Given the description of an element on the screen output the (x, y) to click on. 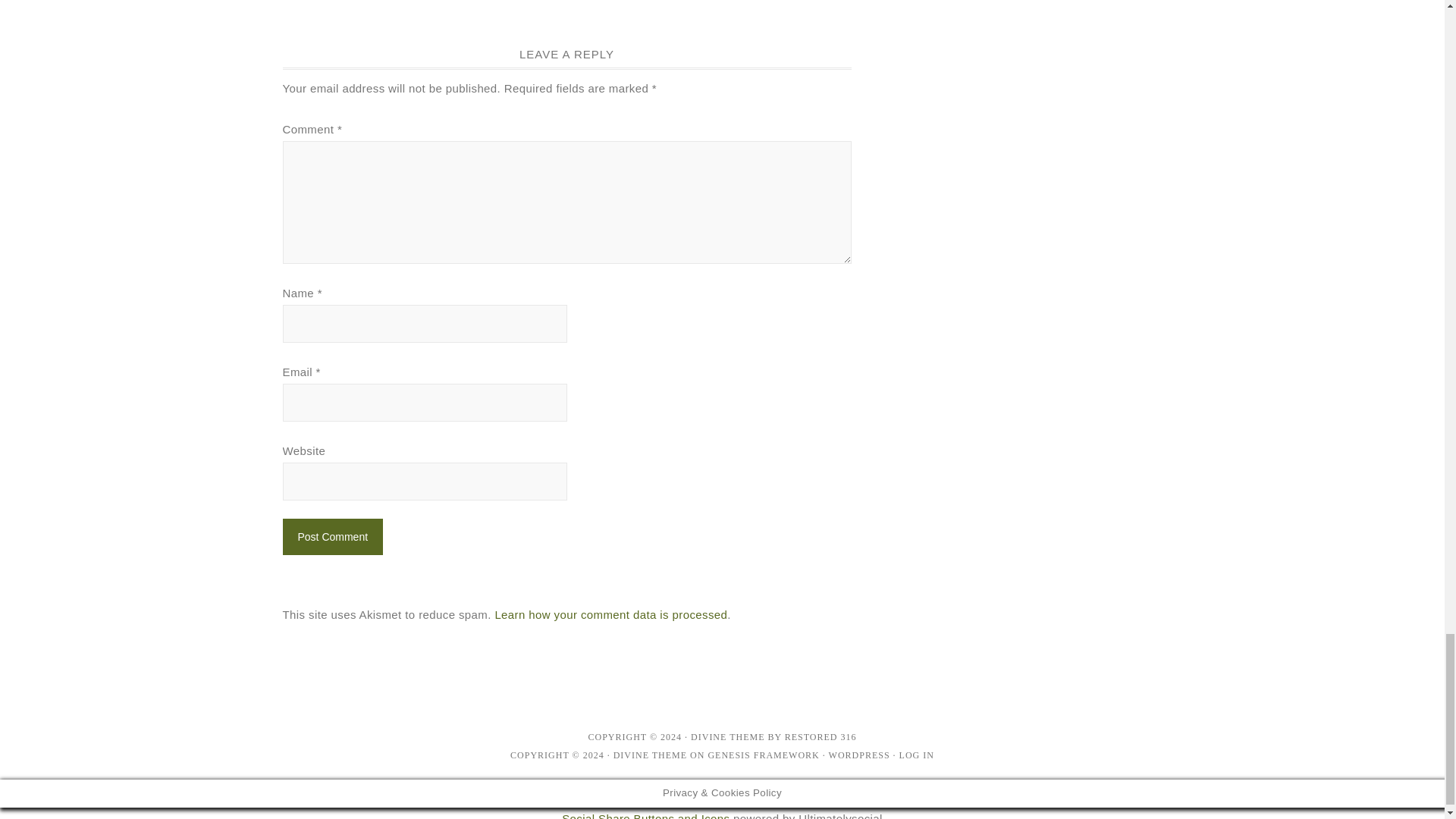
Learn how your comment data is processed (610, 614)
RESTORED 316 (820, 737)
DIVINE THEME (727, 737)
Post Comment (332, 536)
Post Comment (332, 536)
